Given the description of an element on the screen output the (x, y) to click on. 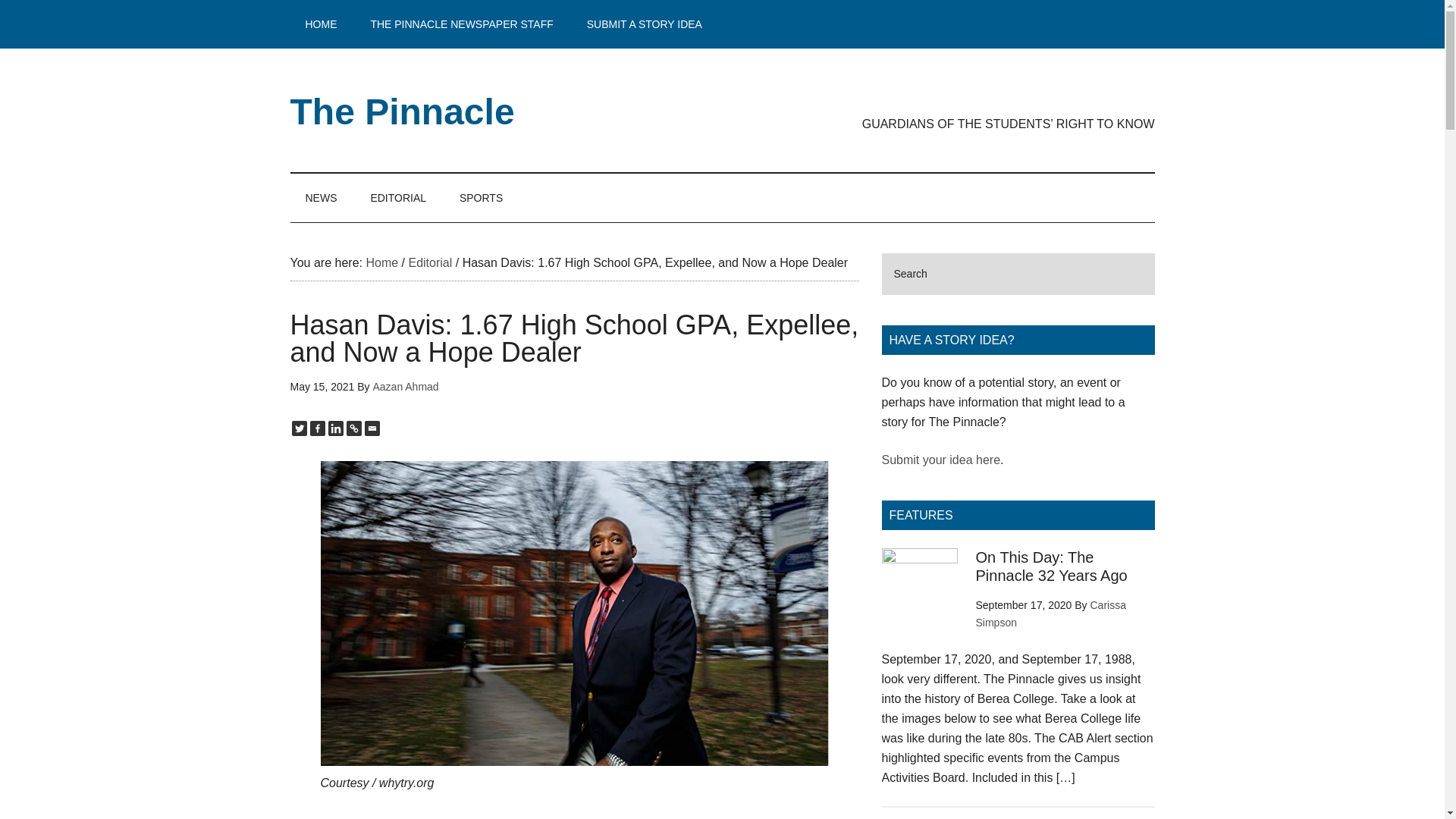
Email (371, 427)
NEWS (320, 197)
Carissa Simpson (1050, 613)
Copy Link (353, 427)
Editorial (429, 262)
THE PINNACLE NEWSPAPER STAFF (461, 24)
